Given the description of an element on the screen output the (x, y) to click on. 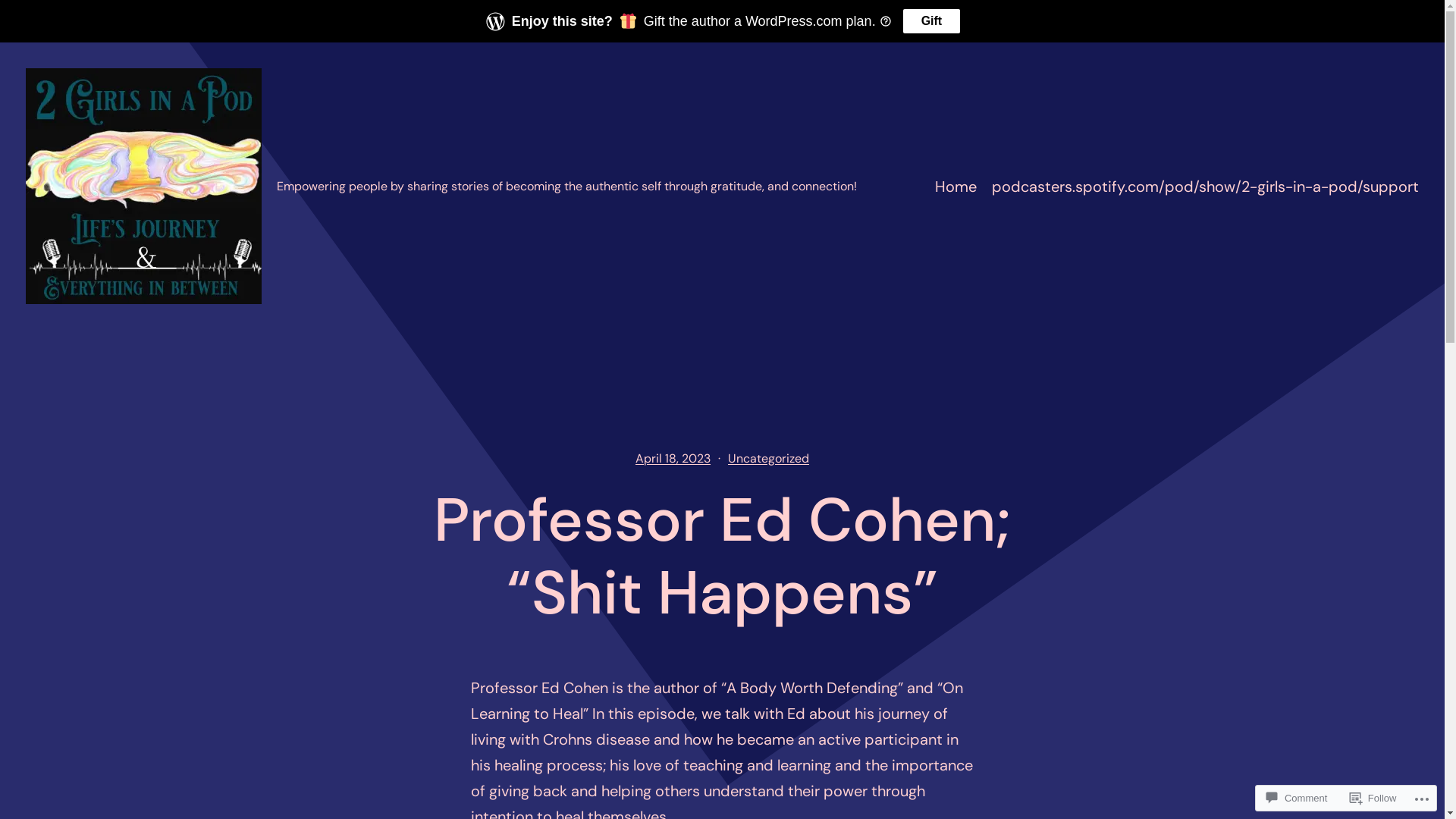
Follow Element type: text (1372, 797)
podcasters.spotify.com/pod/show/2-girls-in-a-pod/support Element type: text (1204, 185)
Gift Element type: text (931, 21)
April 18, 2023 Element type: text (672, 458)
Uncategorized Element type: text (768, 458)
Home Element type: text (955, 185)
Comment Element type: text (1296, 797)
